Given the description of an element on the screen output the (x, y) to click on. 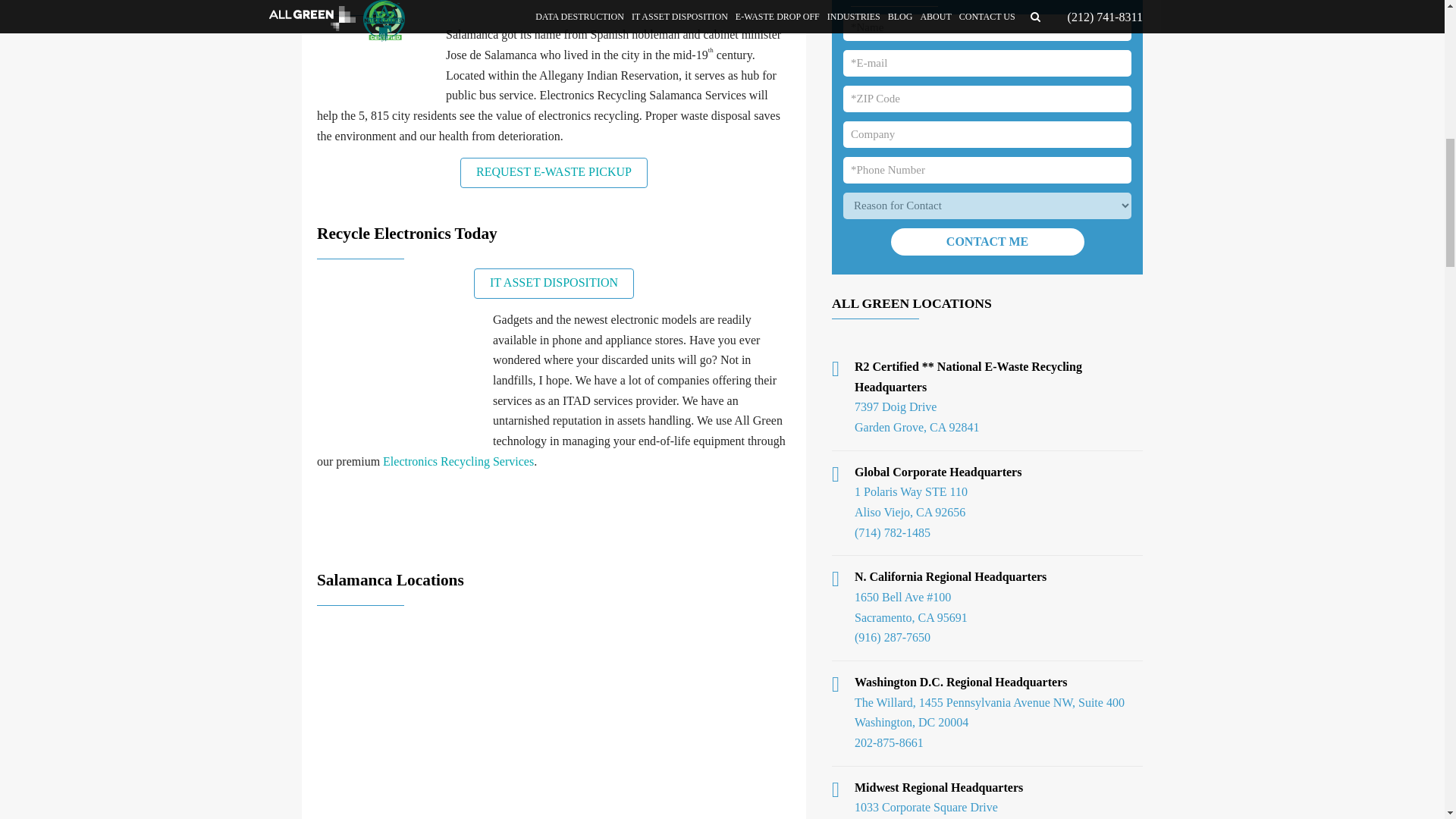
IT ASSET DISPOSITION (553, 283)
Salamanca electronic waste recycling 1 (377, 64)
Contact Me (986, 241)
Contact Me (986, 241)
REQUEST E-WASTE PICKUP (553, 173)
Salamanca electronic waste recycling 3 (554, 717)
Electronics Recycling Services (458, 461)
Salamanca electronic waste recycling 2 (400, 377)
